Given the description of an element on the screen output the (x, y) to click on. 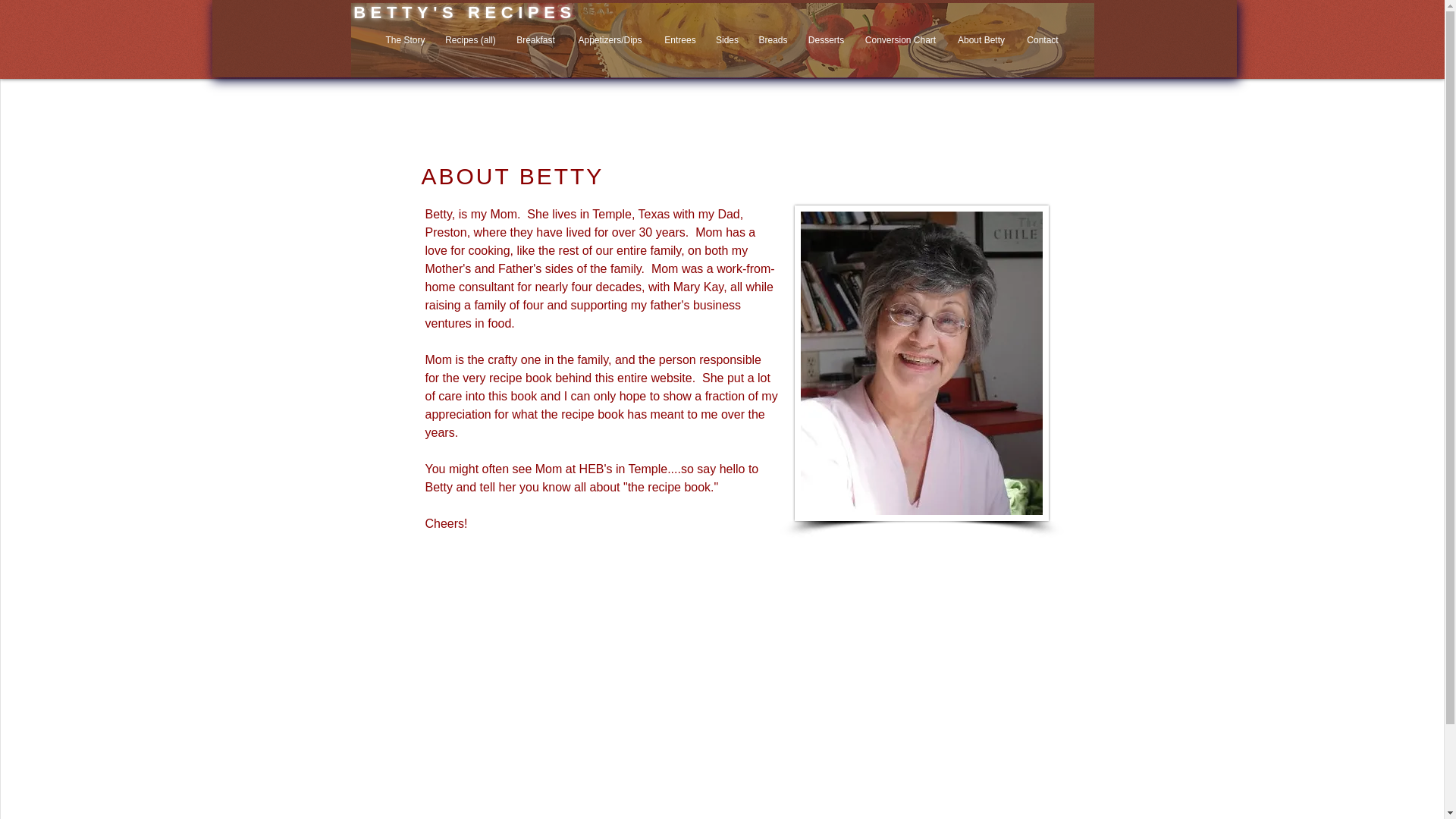
BETTY'S RECI (440, 12)
About Betty (981, 40)
Breakfast (535, 40)
ES (559, 12)
The Story (405, 40)
Sides (727, 40)
Entrees (679, 40)
Desserts (825, 40)
Breads (772, 40)
Conversion Chart (900, 40)
